Given the description of an element on the screen output the (x, y) to click on. 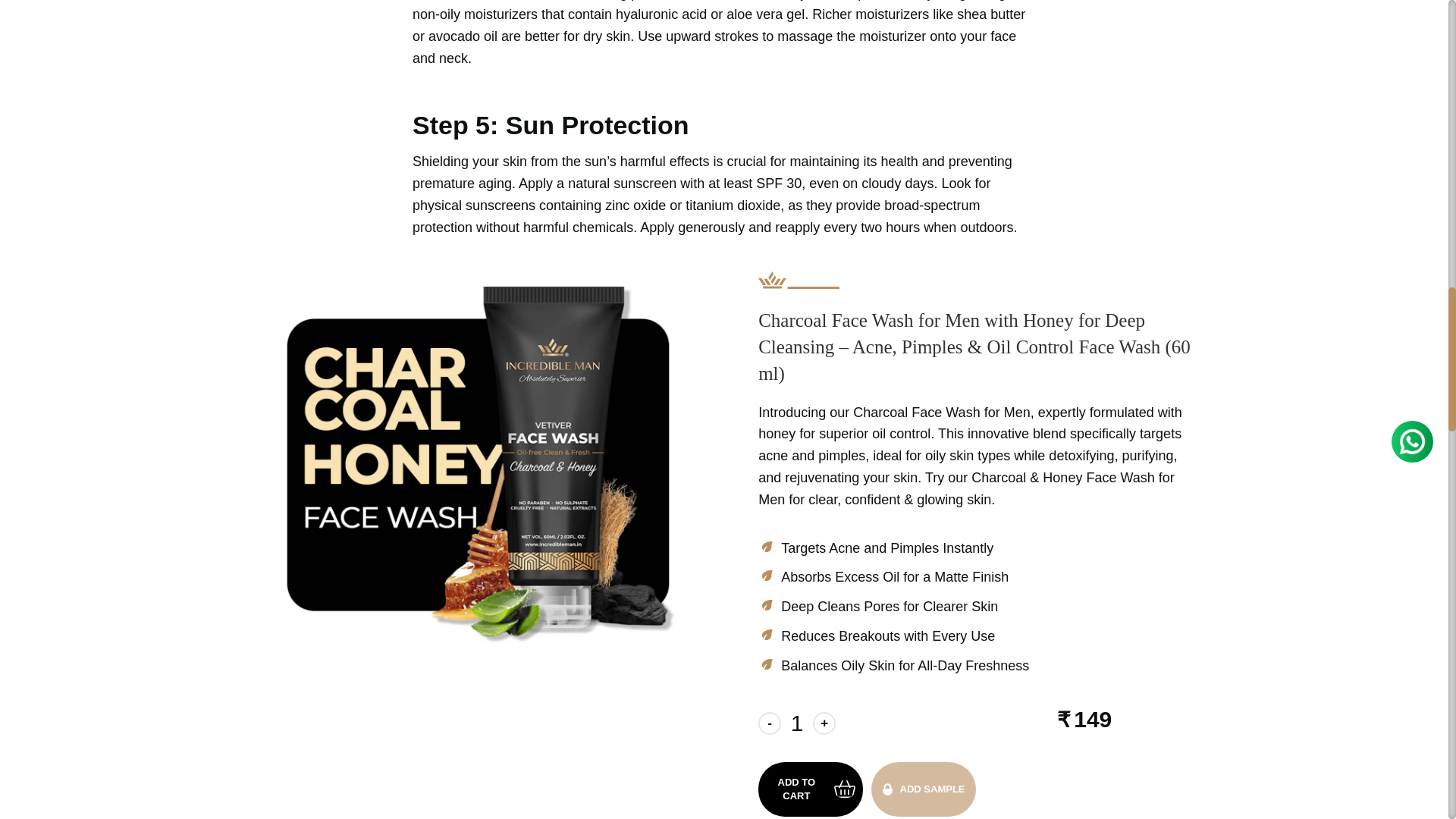
ADD SAMPLE (922, 789)
Qty (796, 723)
1 (796, 723)
- (769, 722)
ADD TO CART (810, 789)
